Given the description of an element on the screen output the (x, y) to click on. 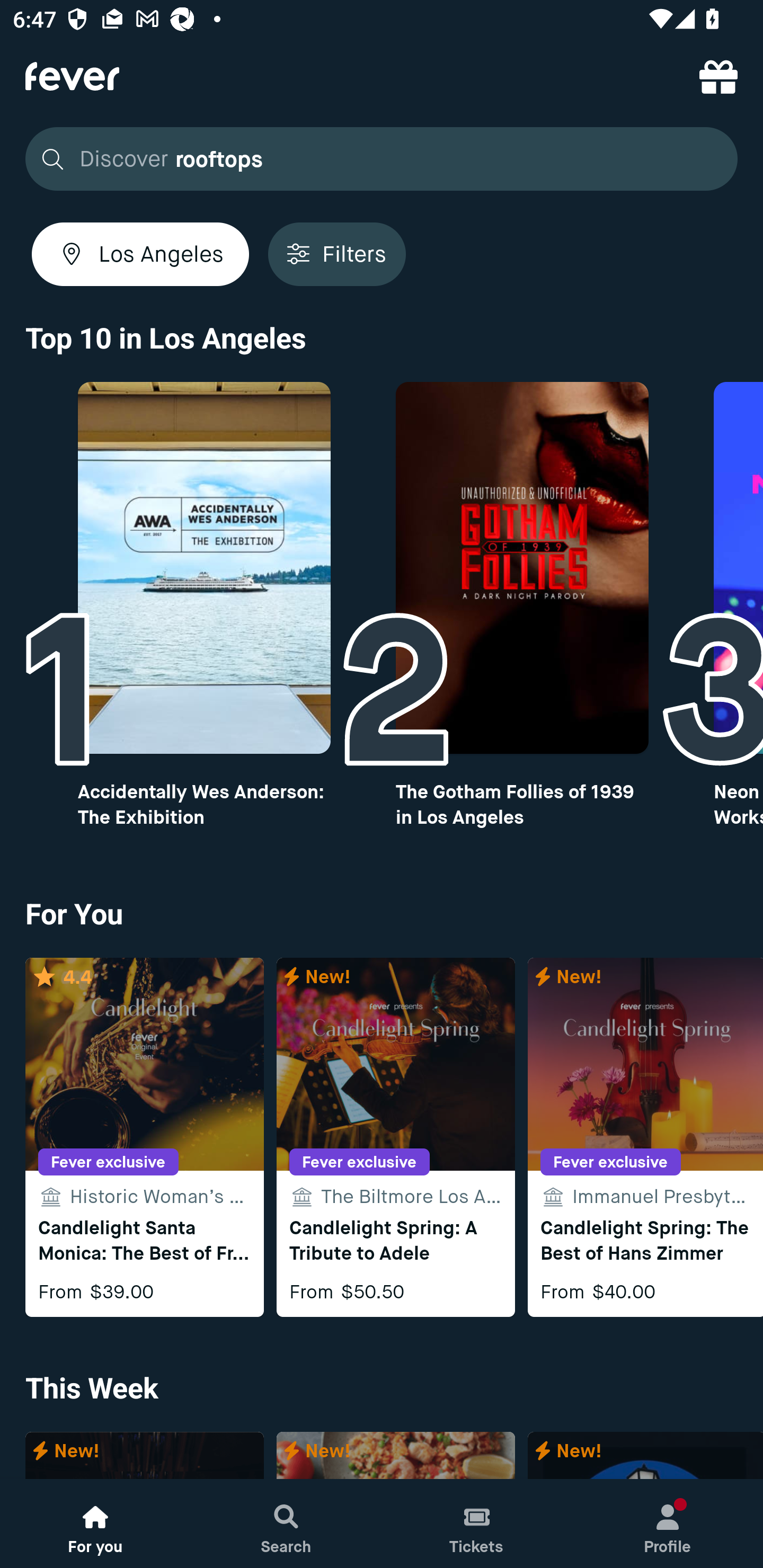
referral (718, 75)
Discover rooftops (381, 158)
Discover rooftops (376, 158)
Los Angeles (140, 253)
Filters (336, 253)
Top10 image (203, 568)
Top10 image (521, 568)
Search (285, 1523)
Tickets (476, 1523)
Profile, New notification Profile (667, 1523)
